Given the description of an element on the screen output the (x, y) to click on. 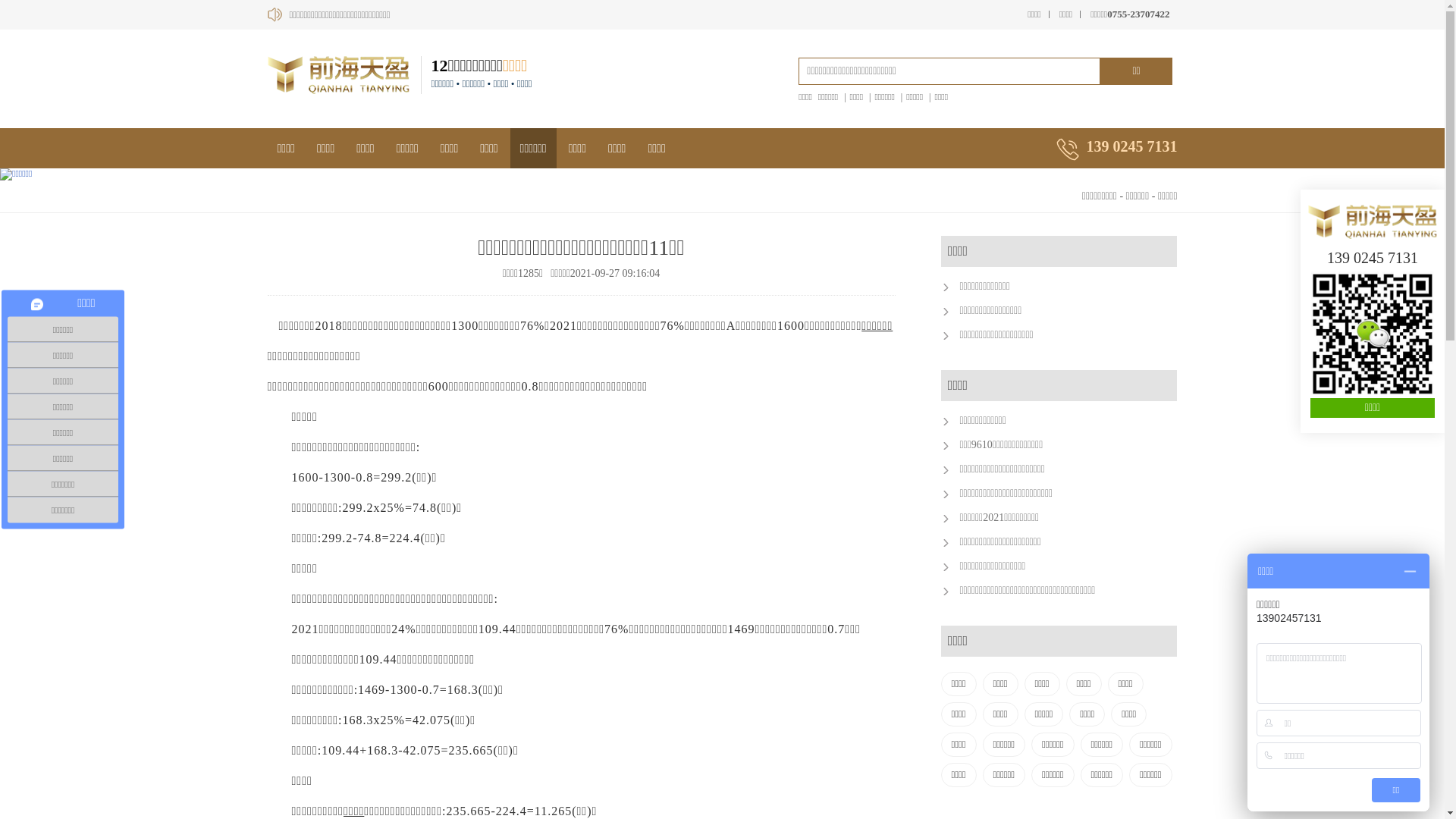
139 0245 7131 Element type: text (1372, 257)
